Given the description of an element on the screen output the (x, y) to click on. 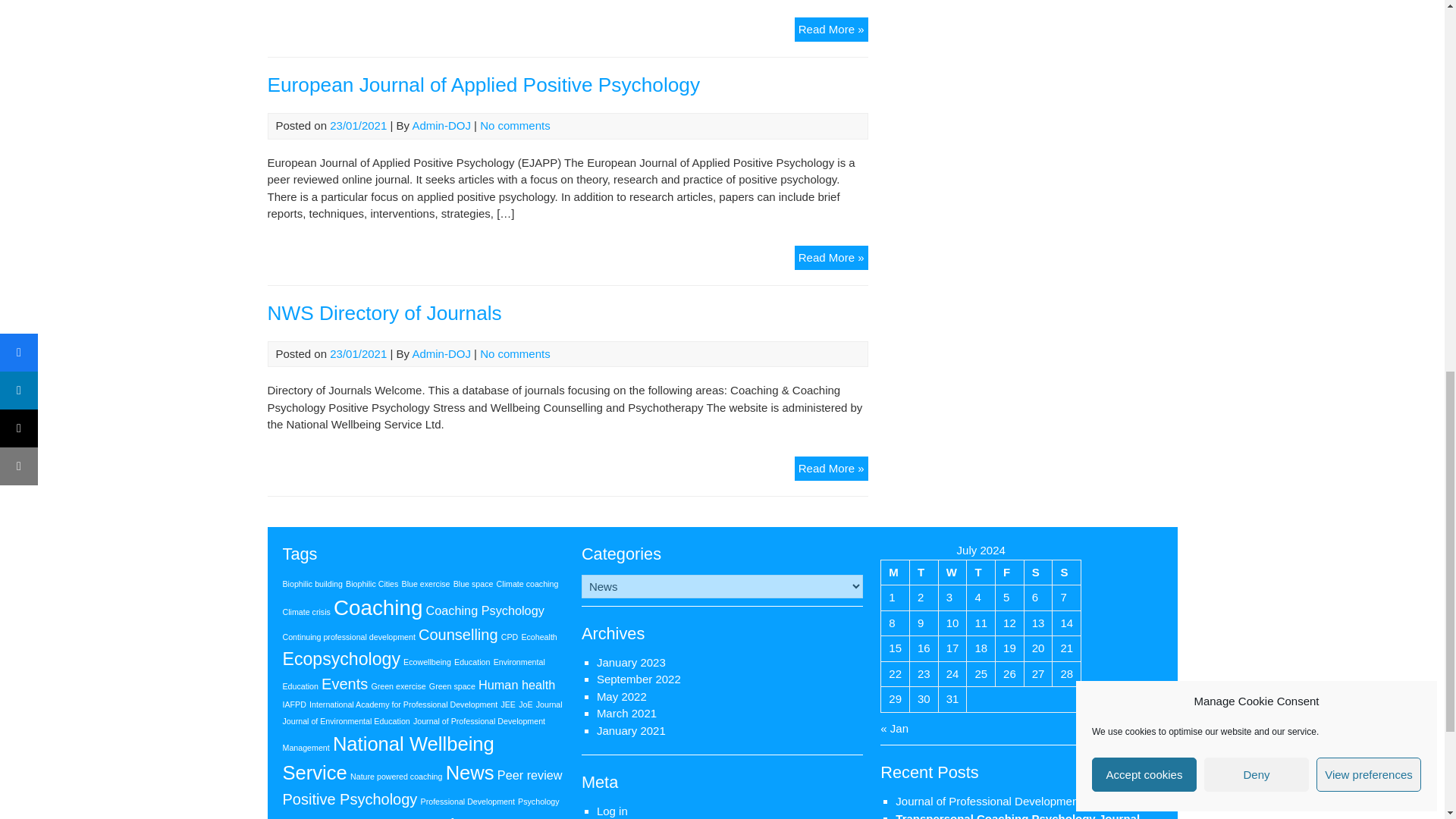
Thursday (980, 572)
Saturday (1037, 572)
Tuesday (924, 572)
Friday (1010, 572)
Wednesday (951, 572)
Monday (895, 572)
Sunday (1066, 572)
Permalink to NWS Directory of Journals (383, 313)
Permalink to European Journal of Applied Positive Psychology (483, 84)
